Given the description of an element on the screen output the (x, y) to click on. 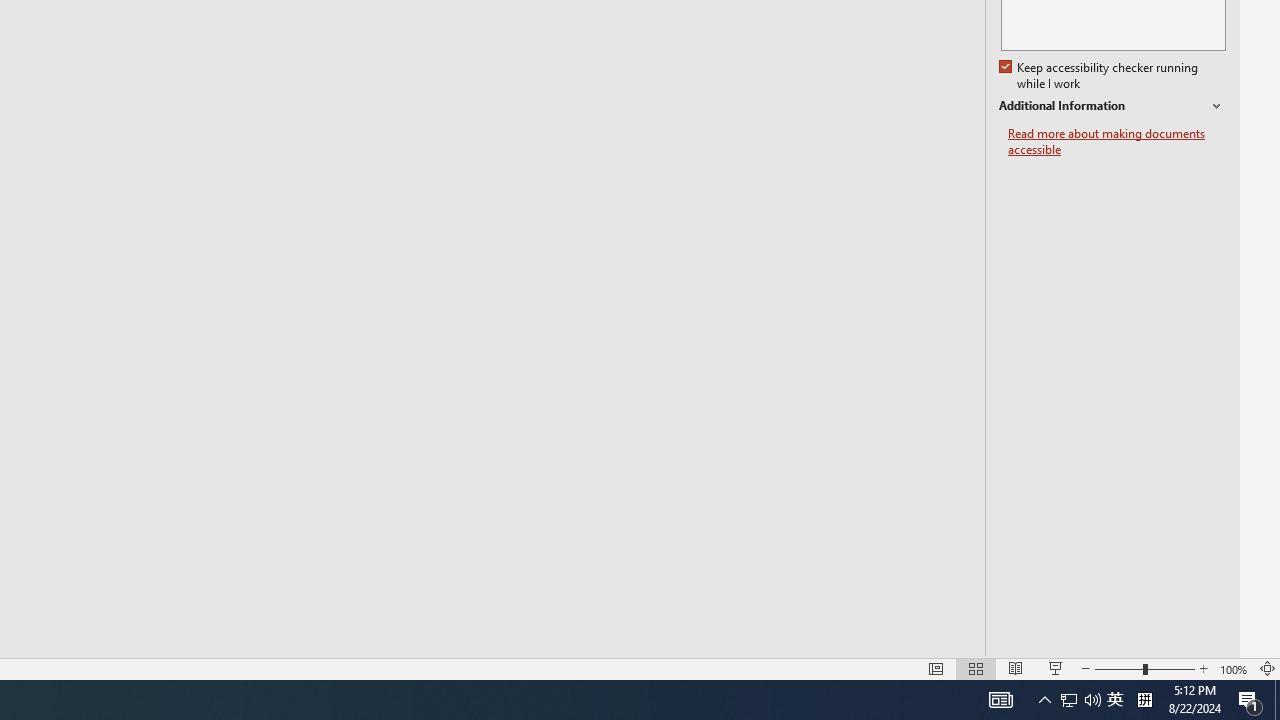
Keep accessibility checker running while I work (1099, 76)
